Given the description of an element on the screen output the (x, y) to click on. 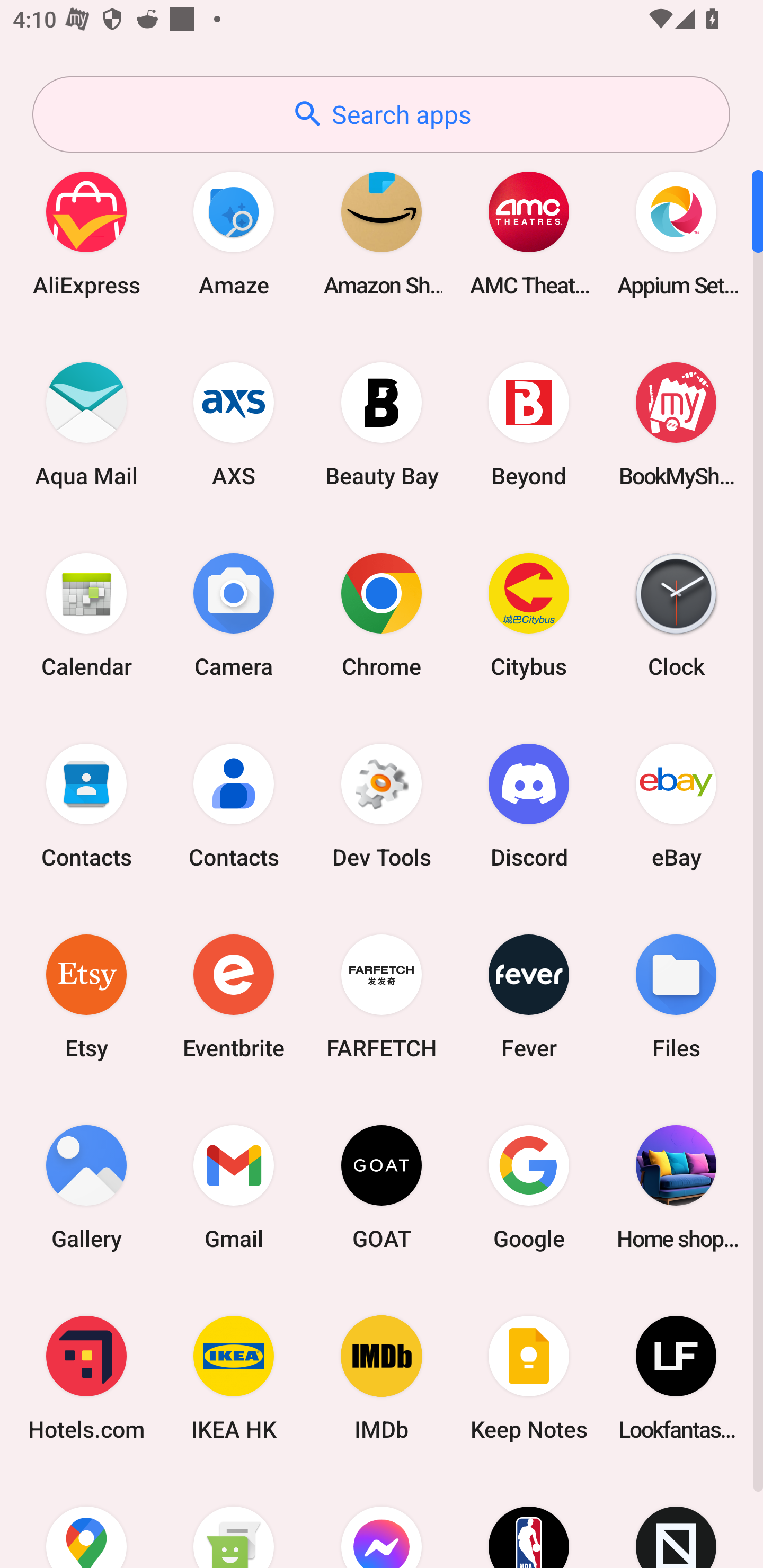
  Search apps (381, 114)
AliExpress (86, 233)
Amaze (233, 233)
Amazon Shopping (381, 233)
AMC Theatres (528, 233)
Appium Settings (676, 233)
Aqua Mail (86, 424)
AXS (233, 424)
Beauty Bay (381, 424)
Beyond (528, 424)
BookMyShow (676, 424)
Calendar (86, 614)
Camera (233, 614)
Chrome (381, 614)
Citybus (528, 614)
Clock (676, 614)
Contacts (86, 805)
Contacts (233, 805)
Dev Tools (381, 805)
Discord (528, 805)
eBay (676, 805)
Etsy (86, 996)
Eventbrite (233, 996)
FARFETCH (381, 996)
Fever (528, 996)
Files (676, 996)
Gallery (86, 1186)
Gmail (233, 1186)
GOAT (381, 1186)
Google (528, 1186)
Home shopping (676, 1186)
Hotels.com (86, 1377)
IKEA HK (233, 1377)
IMDb (381, 1377)
Keep Notes (528, 1377)
Lookfantastic (676, 1377)
